Given the description of an element on the screen output the (x, y) to click on. 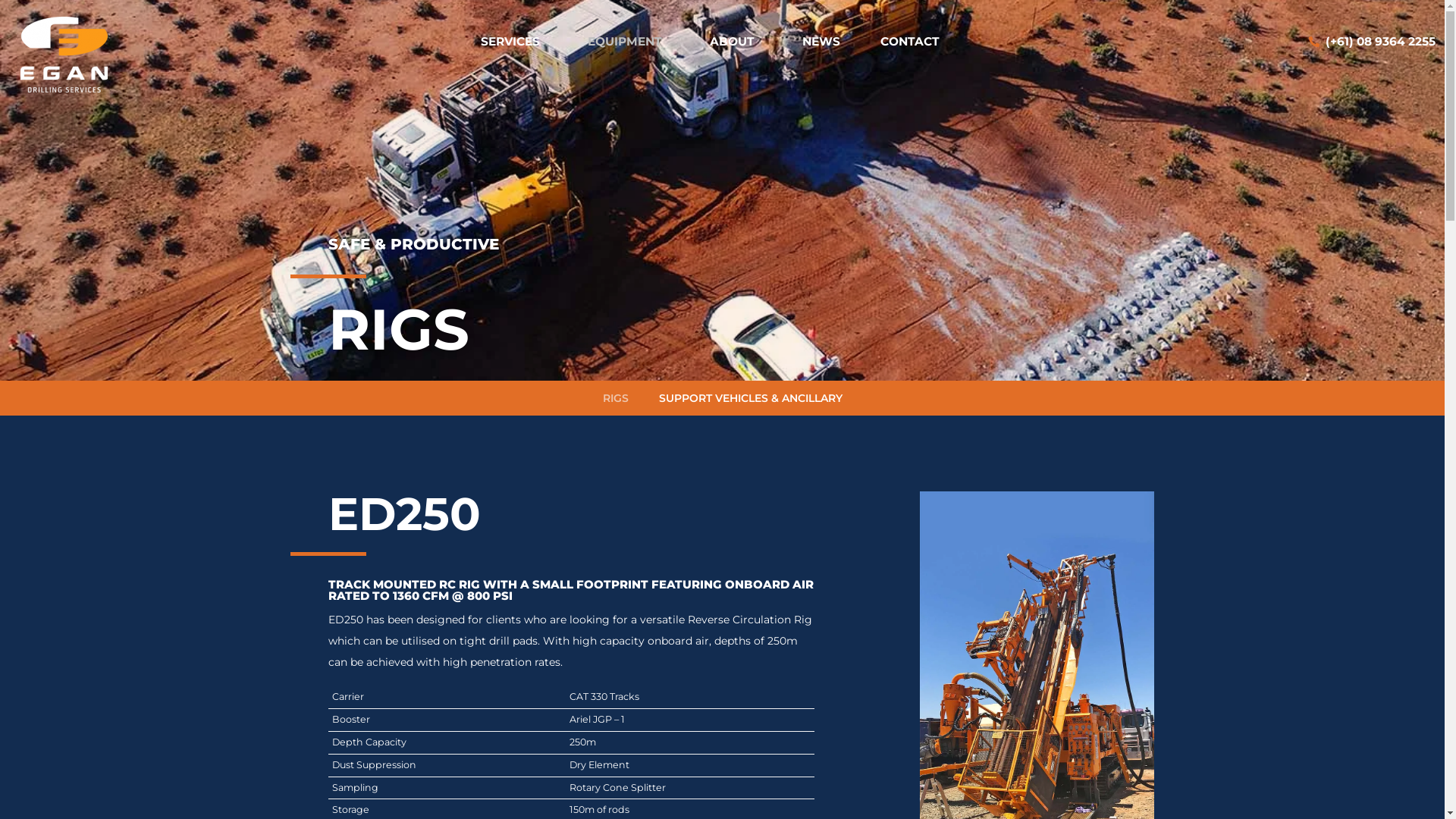
ABOUT Element type: text (735, 41)
EQUIPMENT Element type: text (628, 41)
RIGS Element type: text (614, 397)
egan_drilling Element type: hover (63, 54)
SUPPORT VEHICLES & ANCILLARY Element type: text (749, 397)
NEWS Element type: text (821, 41)
CONTACT Element type: text (909, 41)
SERVICES Element type: text (513, 41)
(+61) 08 9364 2255 Element type: text (1372, 41)
